Given the description of an element on the screen output the (x, y) to click on. 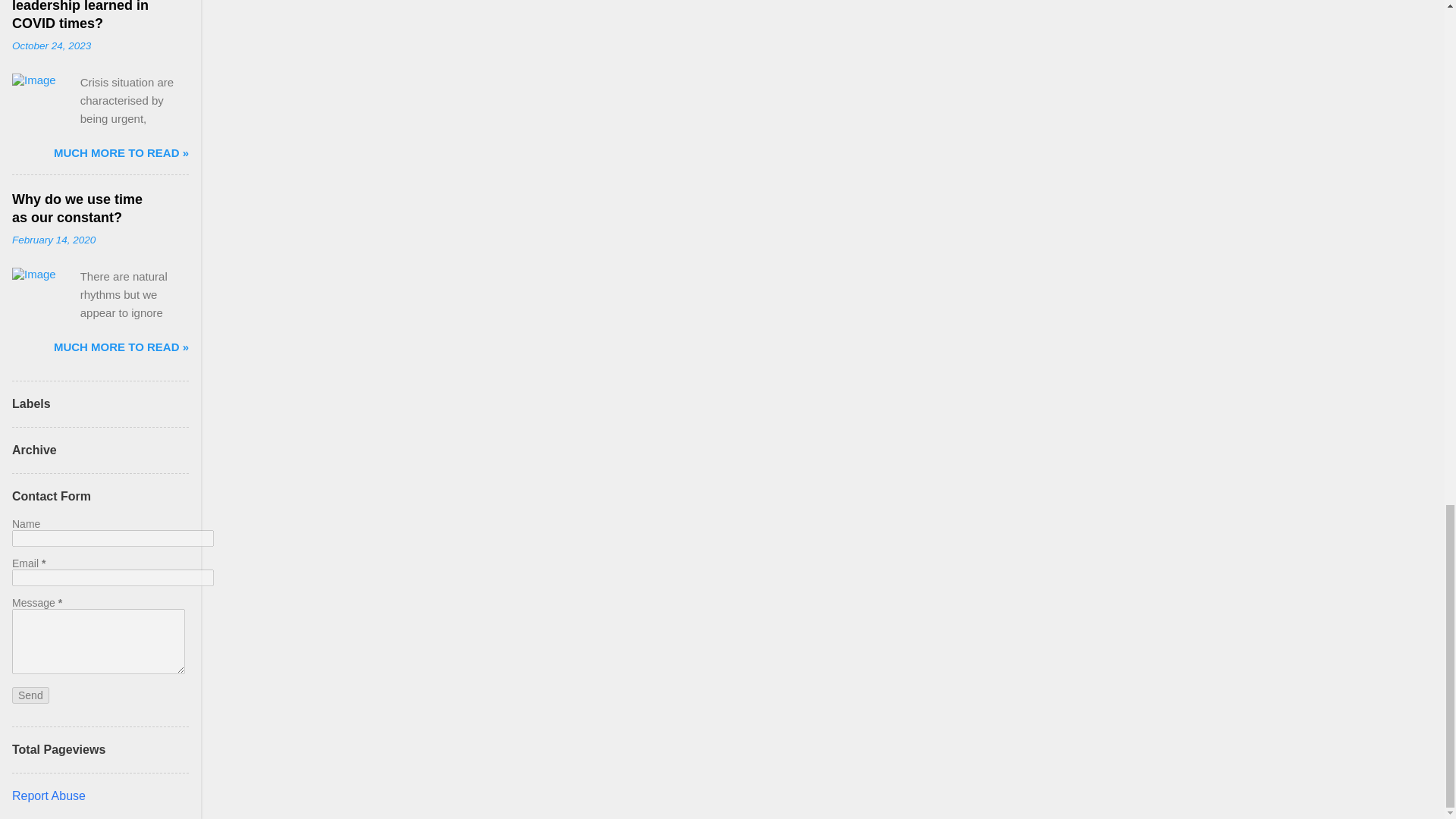
Send (30, 695)
